Given the description of an element on the screen output the (x, y) to click on. 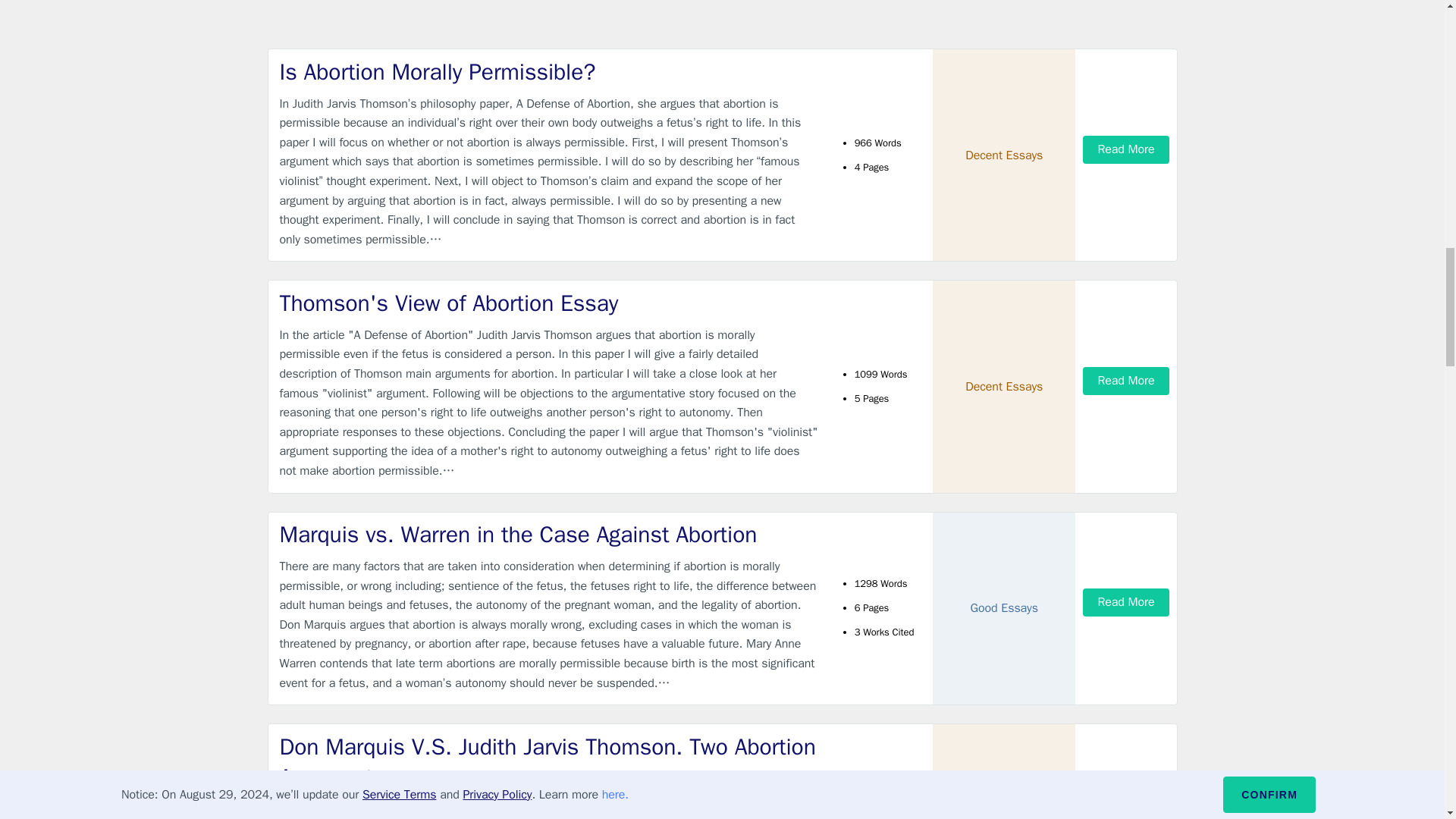
Read More (1126, 791)
Thomson's View of Abortion Essay (548, 303)
Marquis vs. Warren in the Case Against Abortion (548, 534)
Is Abortion Morally Permissible? (548, 71)
Read More (1126, 149)
Read More (1126, 380)
Read More (1126, 602)
